Given the description of an element on the screen output the (x, y) to click on. 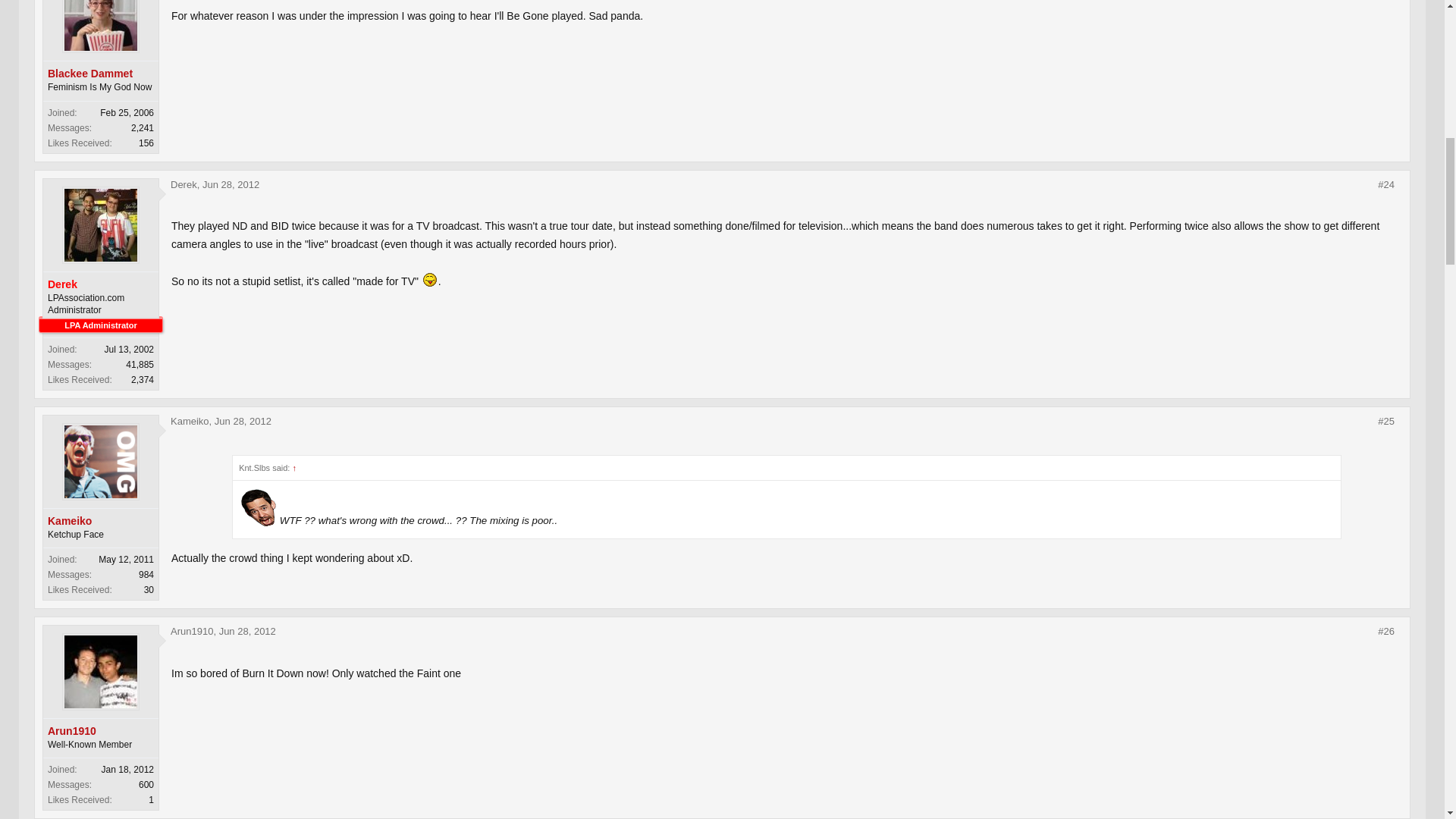
Stick Out Tongue    :p (430, 279)
Permalink (230, 184)
Permalink (1385, 184)
2,241 (142, 127)
Blackee Dammet (101, 73)
Permalink (1385, 421)
Permalink (242, 420)
